Given the description of an element on the screen output the (x, y) to click on. 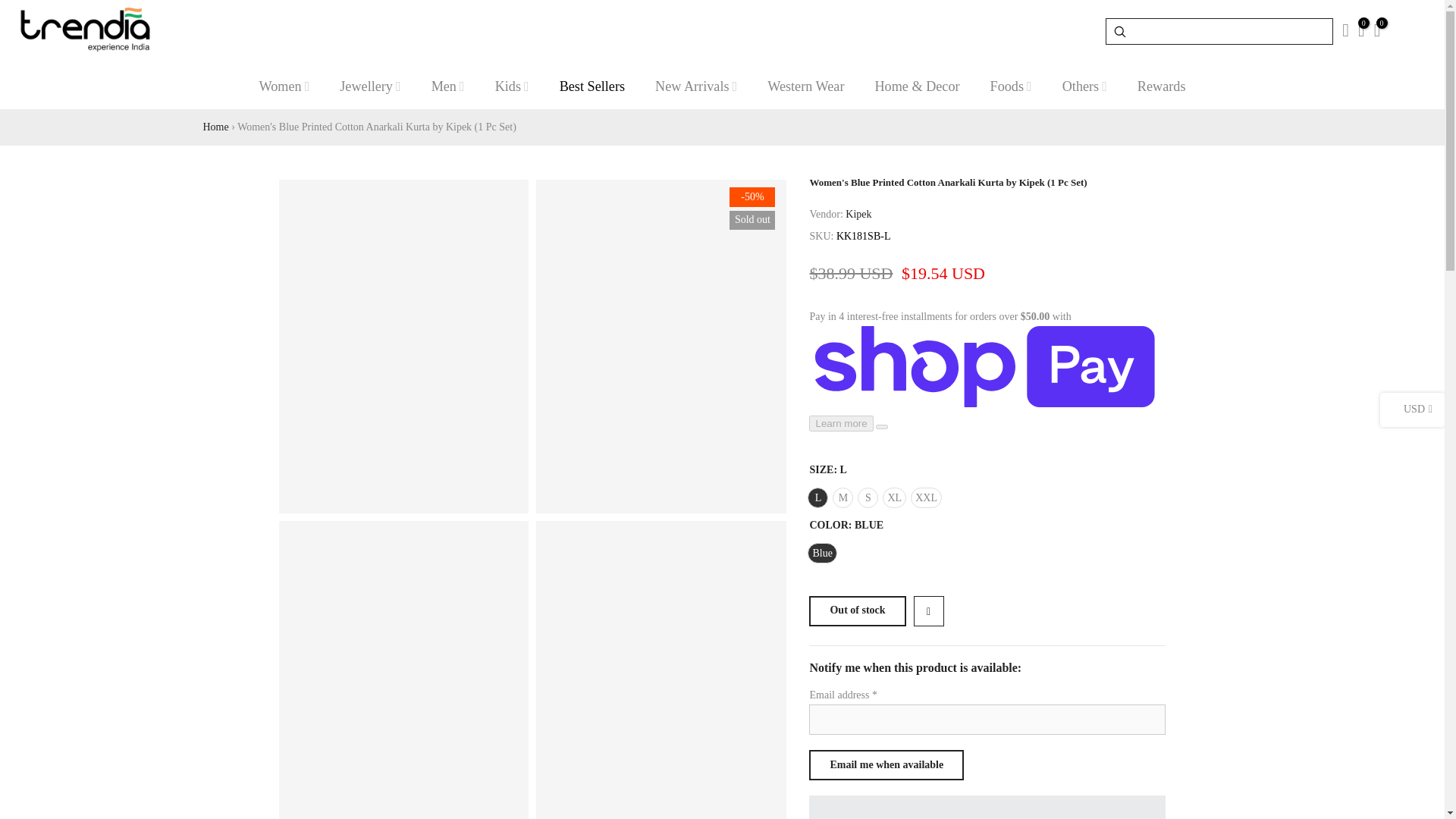
Email me when available (886, 765)
Kipek (857, 214)
Home (215, 126)
Women (284, 85)
